Given the description of an element on the screen output the (x, y) to click on. 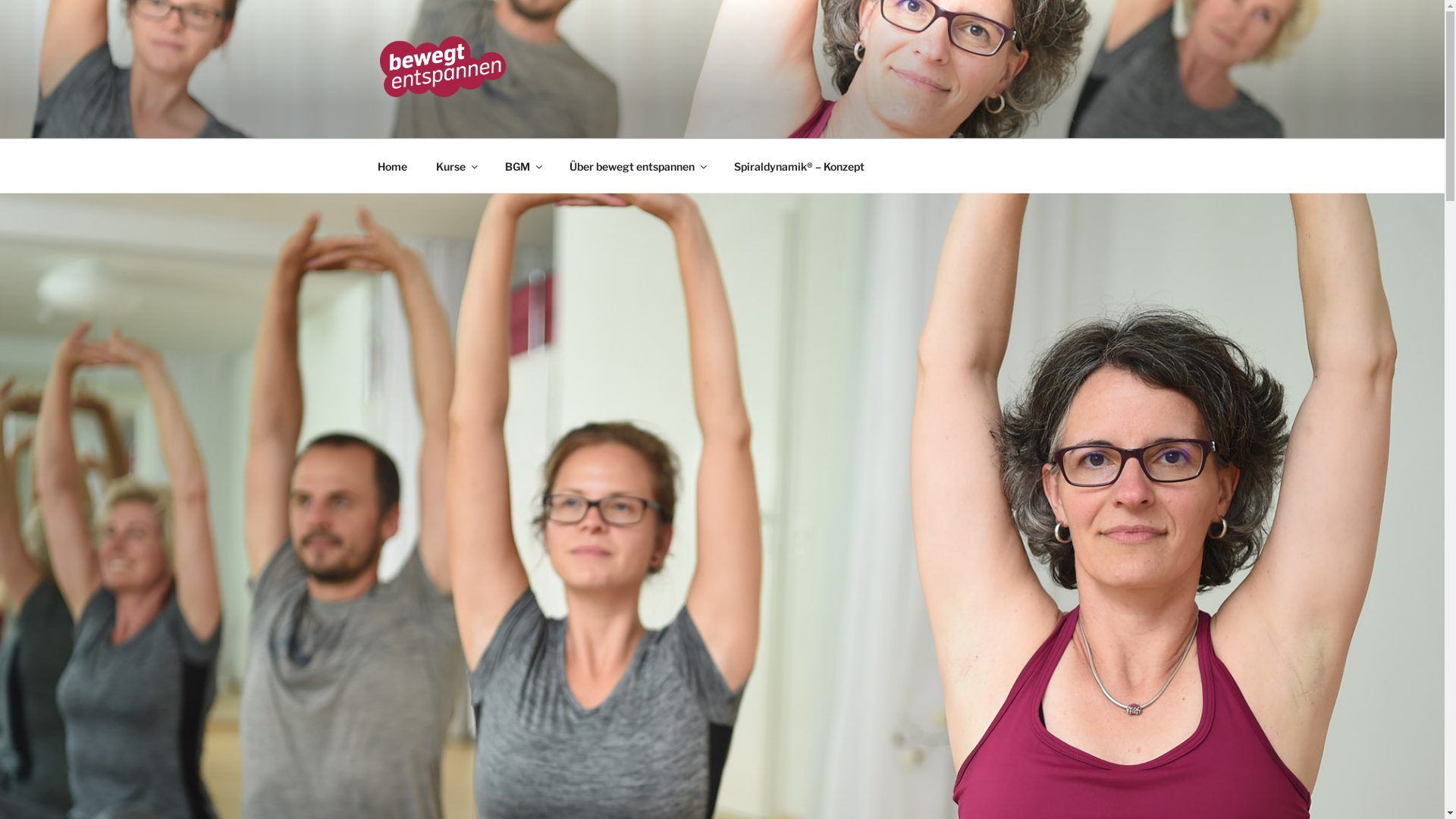
Kurse Element type: text (456, 165)
BGM Element type: text (522, 165)
BEWEGT ENTSPANNEN Element type: text (558, 118)
Home Element type: text (392, 165)
